Given the description of an element on the screen output the (x, y) to click on. 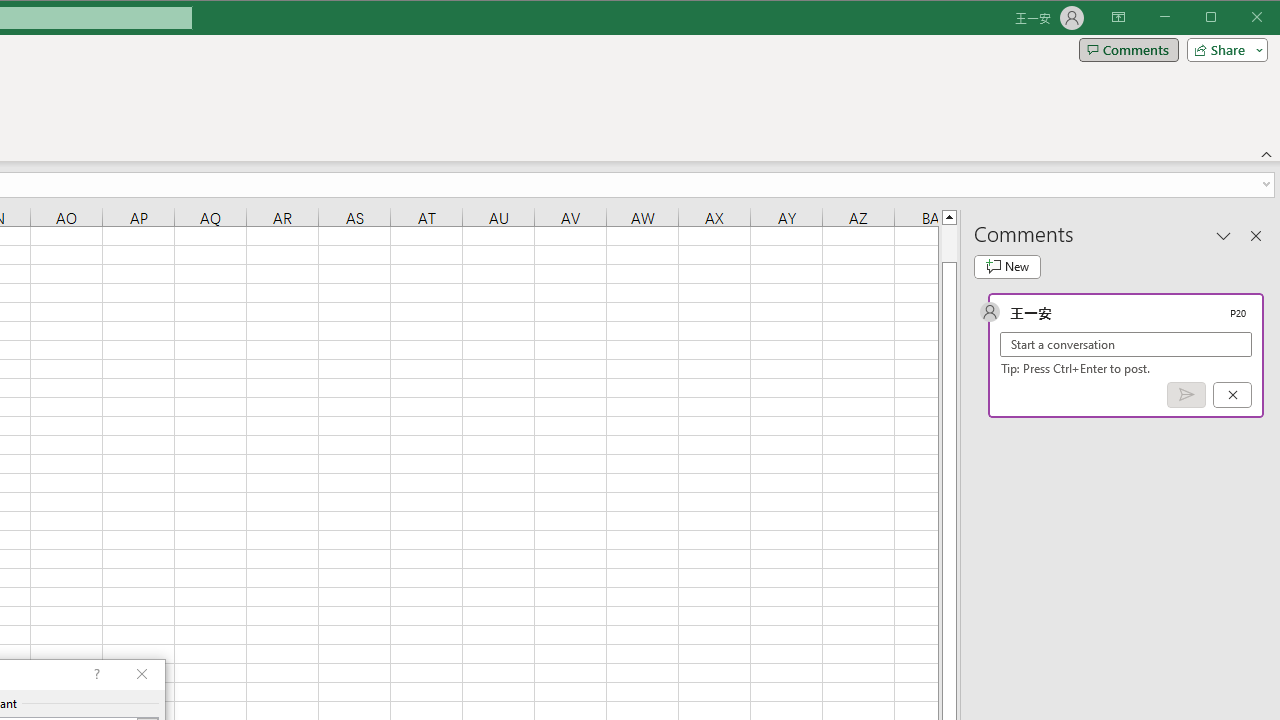
Task Pane Options (1224, 235)
Page up (948, 243)
Minimize (1217, 18)
Ribbon Display Options (1118, 17)
Share (1223, 49)
Post comment (Ctrl + Enter) (1186, 395)
Cancel (1232, 395)
Collapse the Ribbon (1267, 154)
Maximize (1239, 18)
New comment (1007, 266)
Start a conversation (1126, 344)
Close pane (1256, 235)
